Given the description of an element on the screen output the (x, y) to click on. 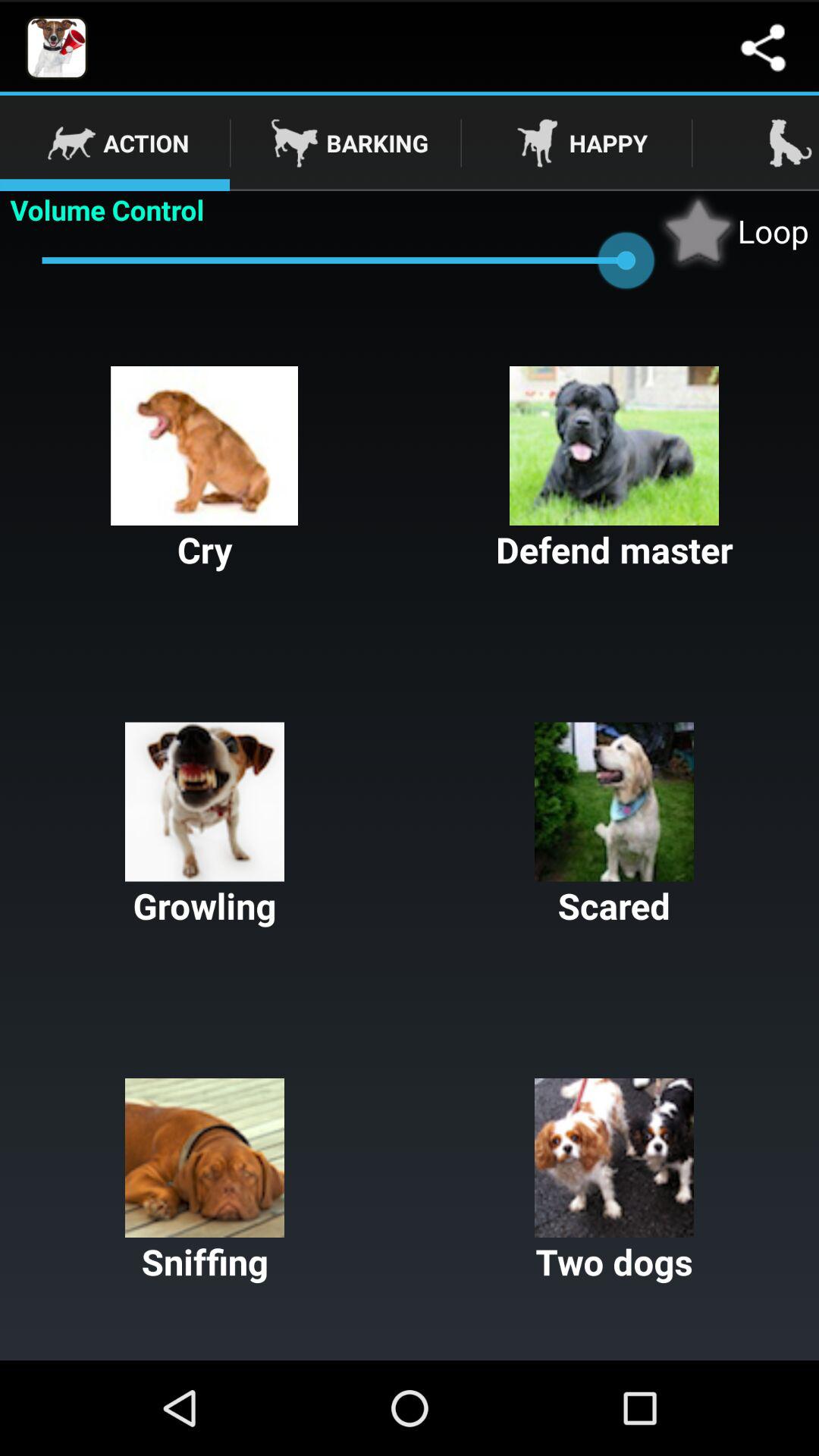
tap the cry icon (204, 469)
